Given the description of an element on the screen output the (x, y) to click on. 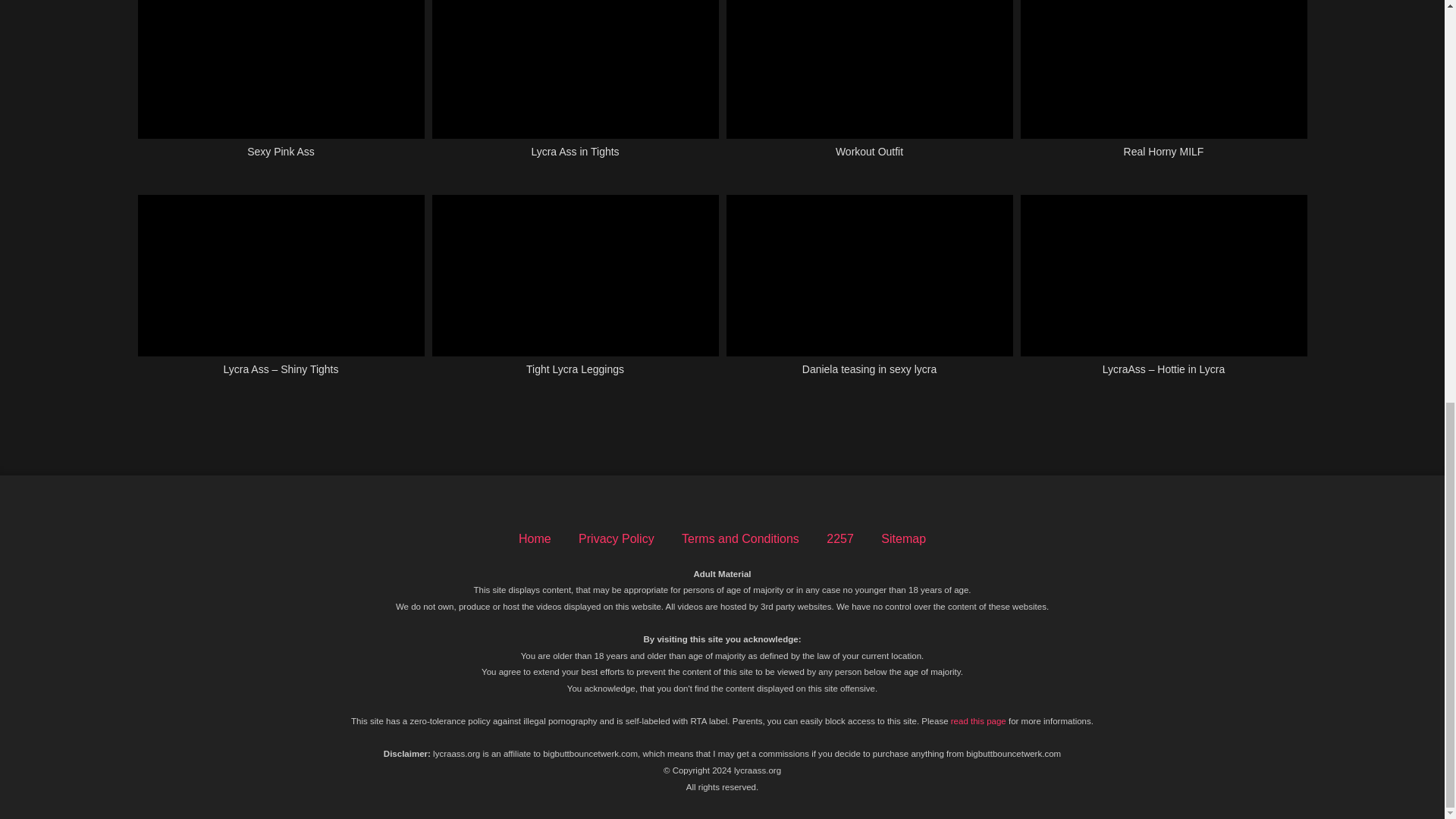
read this page (978, 720)
Tight Lycra Leggings (575, 293)
Real Horny MILF (1163, 88)
Privacy Policy (615, 538)
2257 (840, 538)
Home (534, 538)
Terms and Conditions (740, 538)
Workout Outfit (869, 88)
Workout Outfit (869, 88)
Sexy Pink Ass (281, 88)
